Given the description of an element on the screen output the (x, y) to click on. 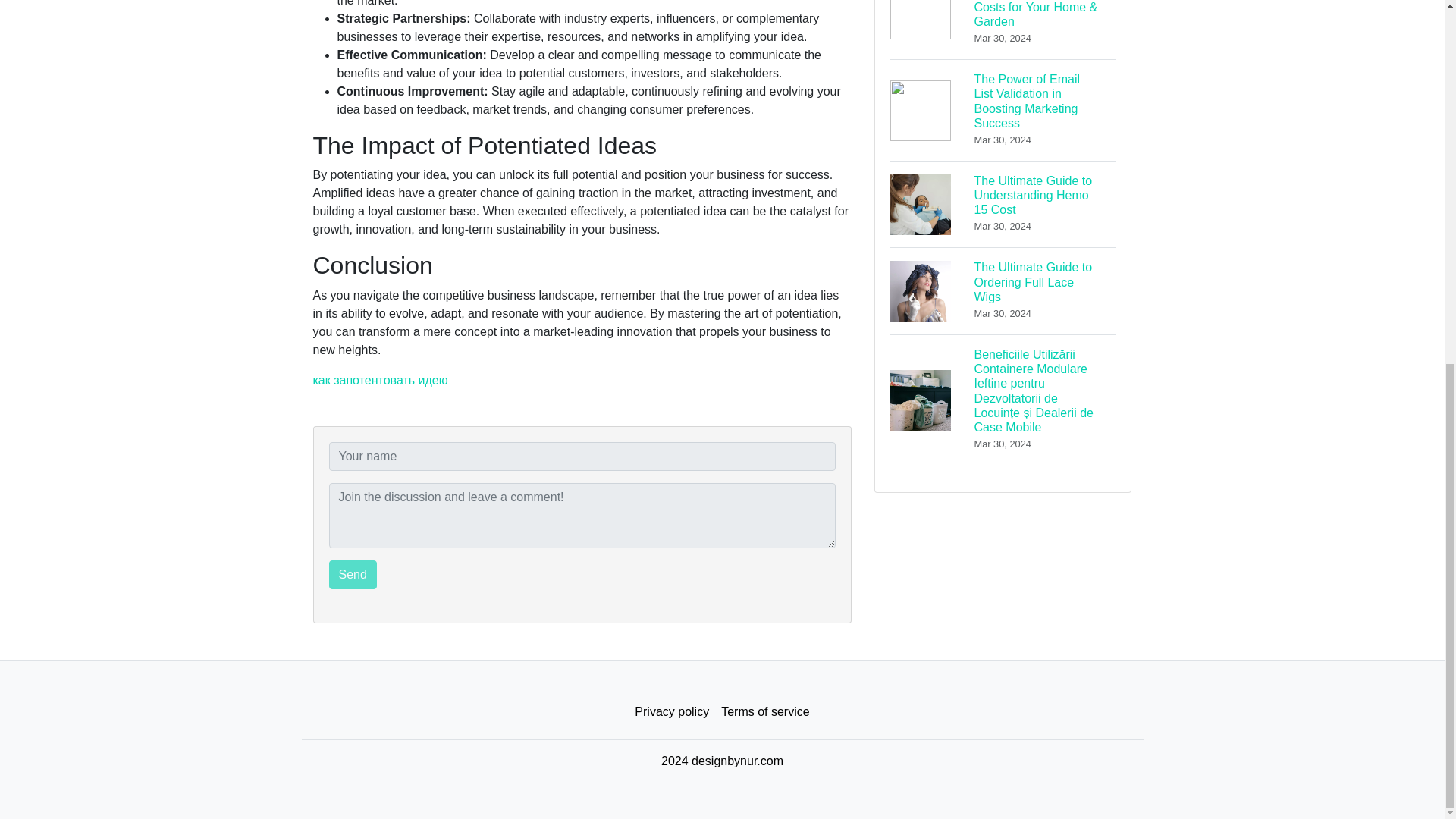
Send (353, 574)
Privacy policy (671, 711)
Send (353, 574)
Terms of service (764, 711)
